Given the description of an element on the screen output the (x, y) to click on. 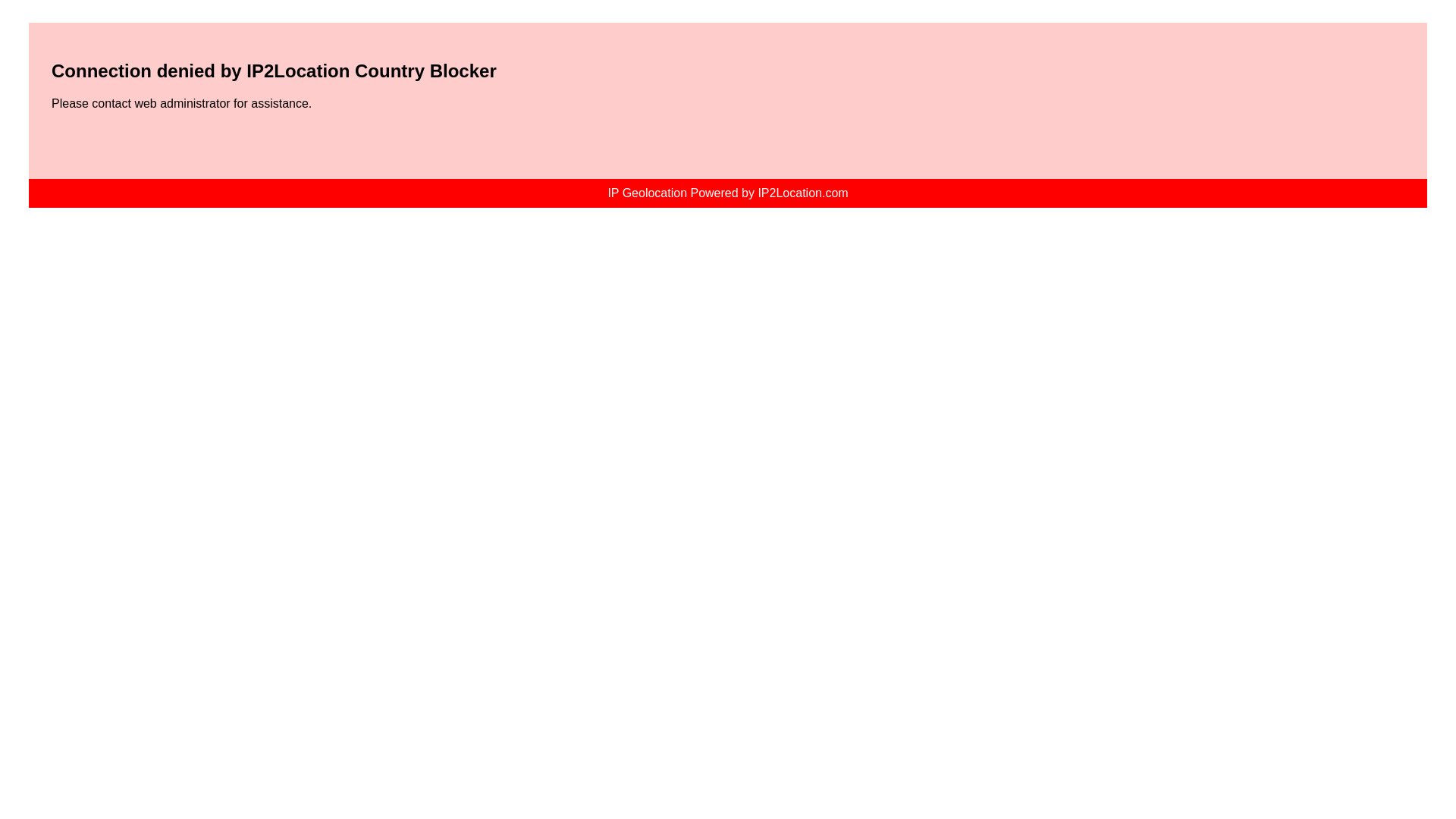
IP Geolocation Powered by IP2Location.com (727, 192)
